Given the description of an element on the screen output the (x, y) to click on. 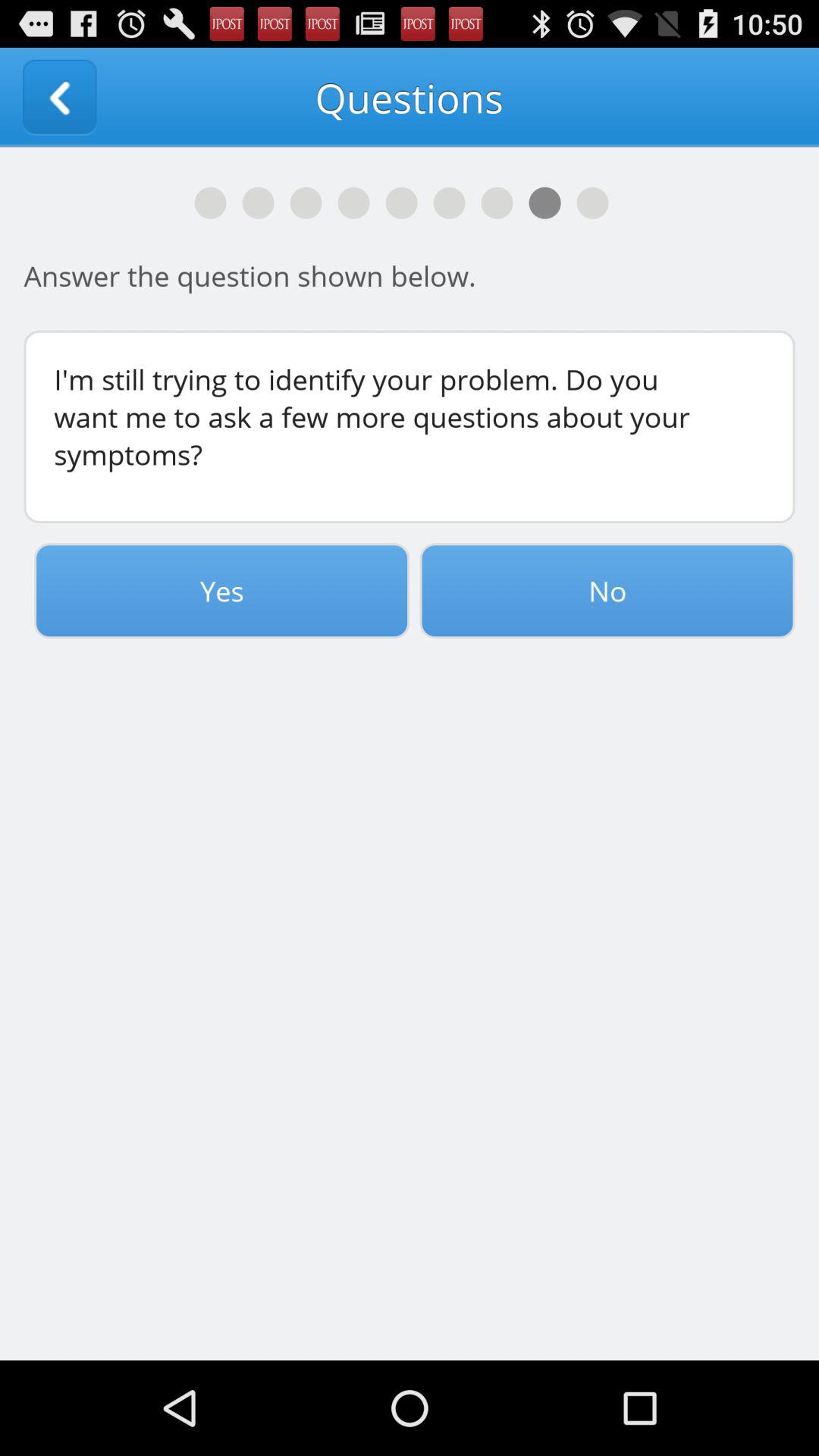
launch the item to the left of no icon (221, 590)
